Given the description of an element on the screen output the (x, y) to click on. 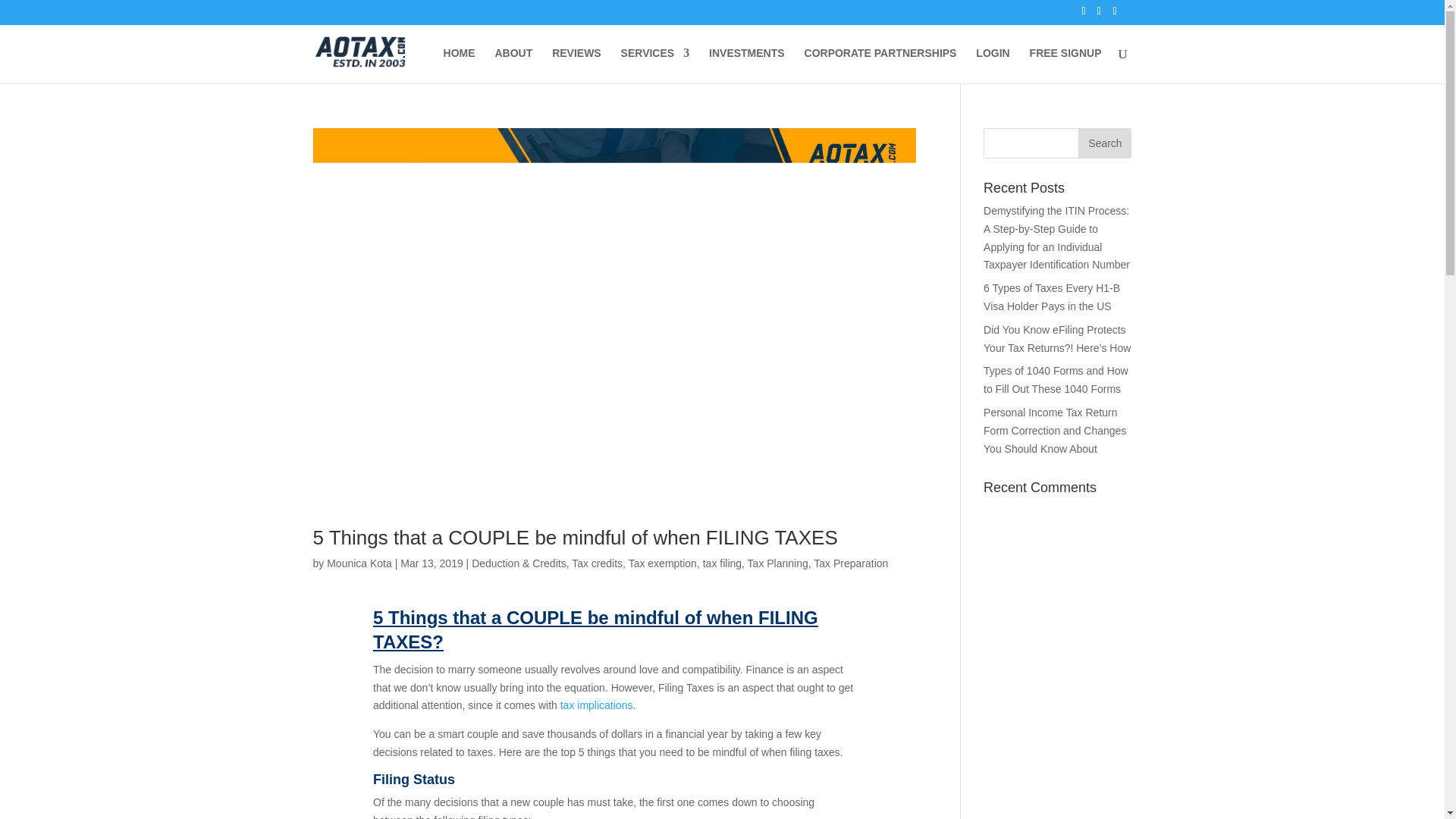
Posts by Mounica Kota (358, 563)
SERVICES (655, 65)
LOGIN (992, 65)
Search (1104, 142)
FREE SIGNUP (1065, 65)
HOME (460, 65)
INVESTMENTS (746, 65)
CORPORATE PARTNERSHIPS (880, 65)
REVIEWS (576, 65)
ABOUT (513, 65)
